Given the description of an element on the screen output the (x, y) to click on. 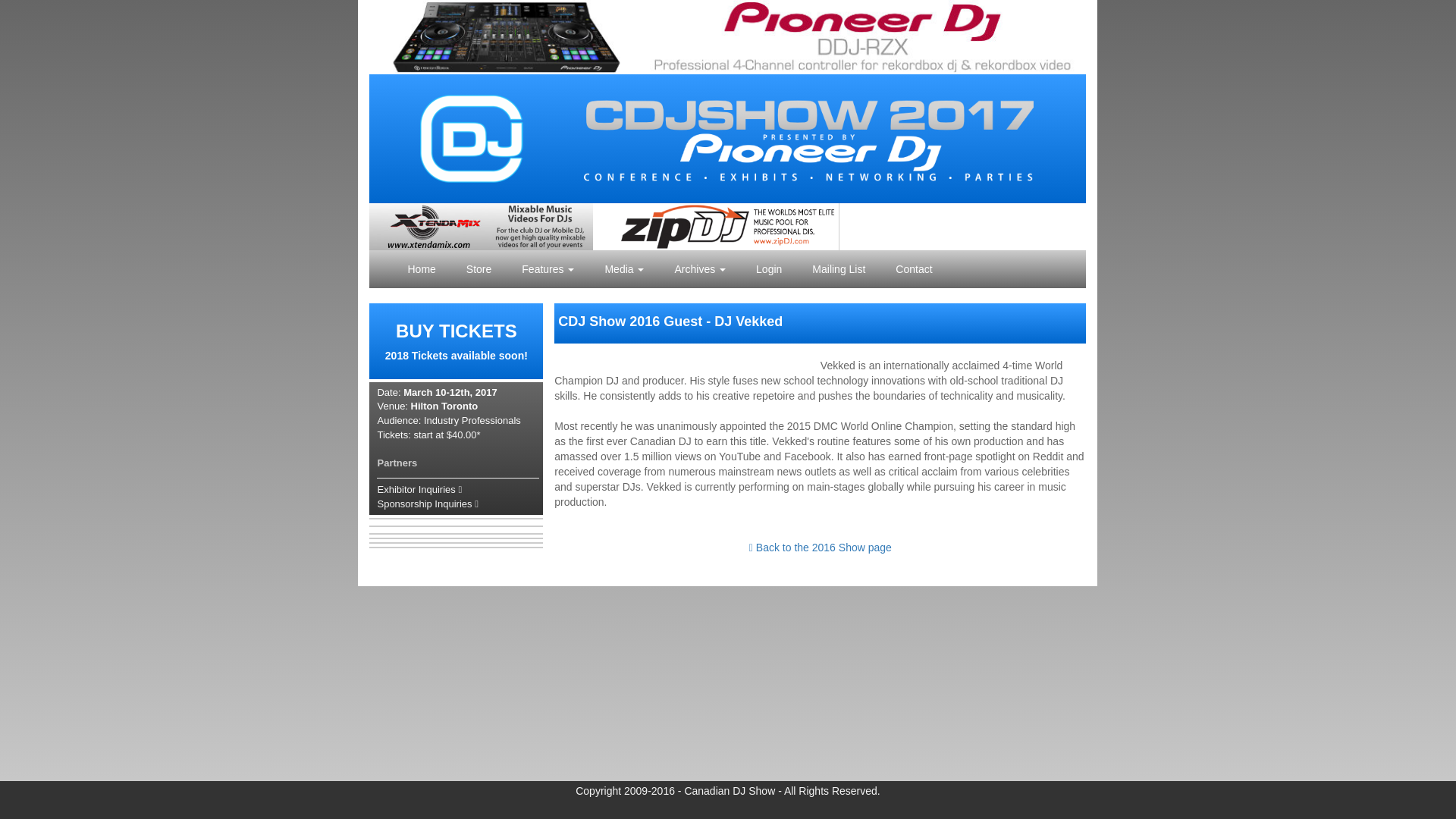
Exhibitor Inquiries (419, 489)
Archives (700, 269)
Contact (913, 269)
Login (768, 269)
Sponsorship Inquiries (427, 503)
Home (420, 269)
Mailing List (838, 269)
Store (478, 269)
Features (456, 341)
